Given the description of an element on the screen output the (x, y) to click on. 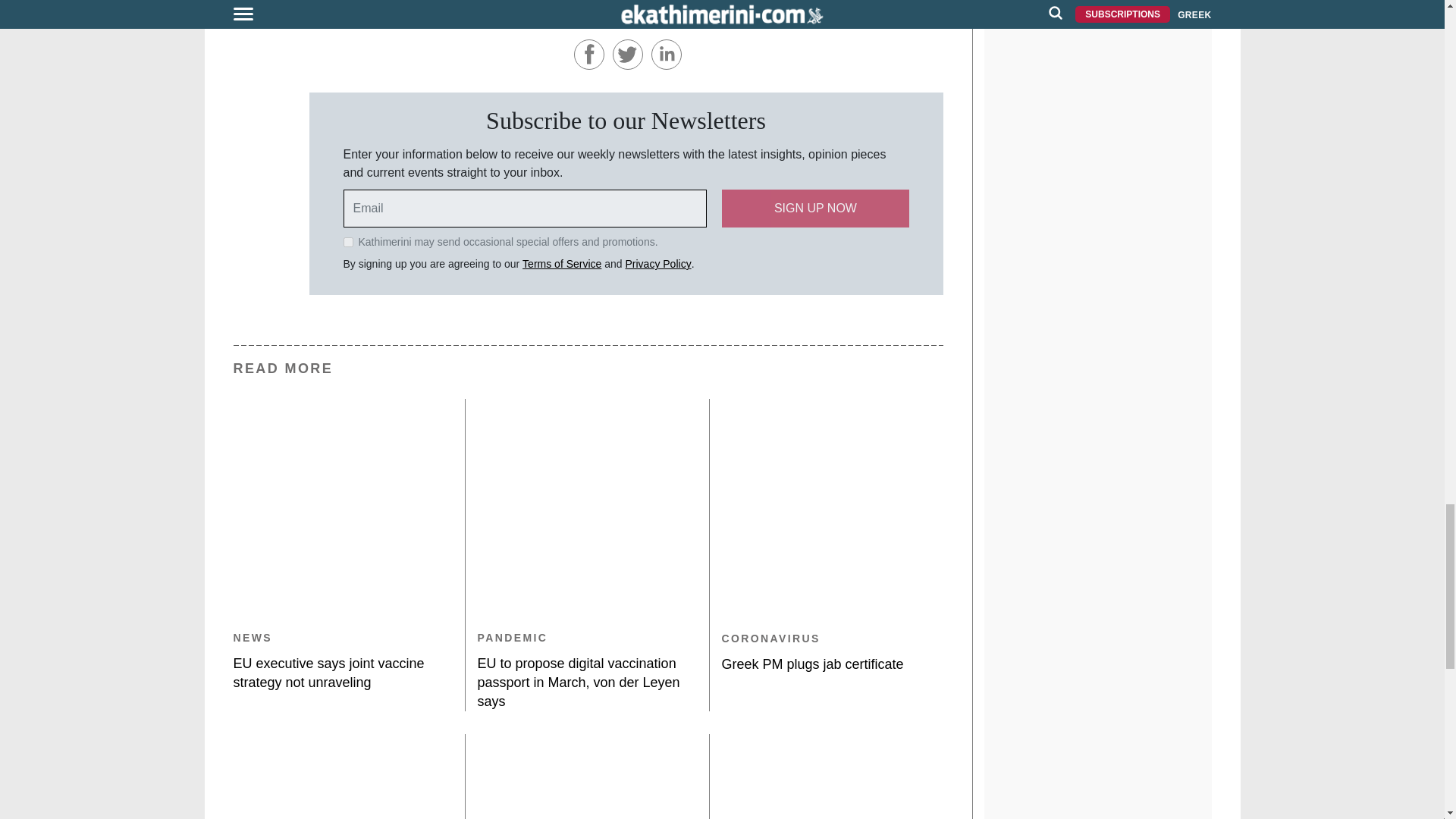
on (347, 242)
